Given the description of an element on the screen output the (x, y) to click on. 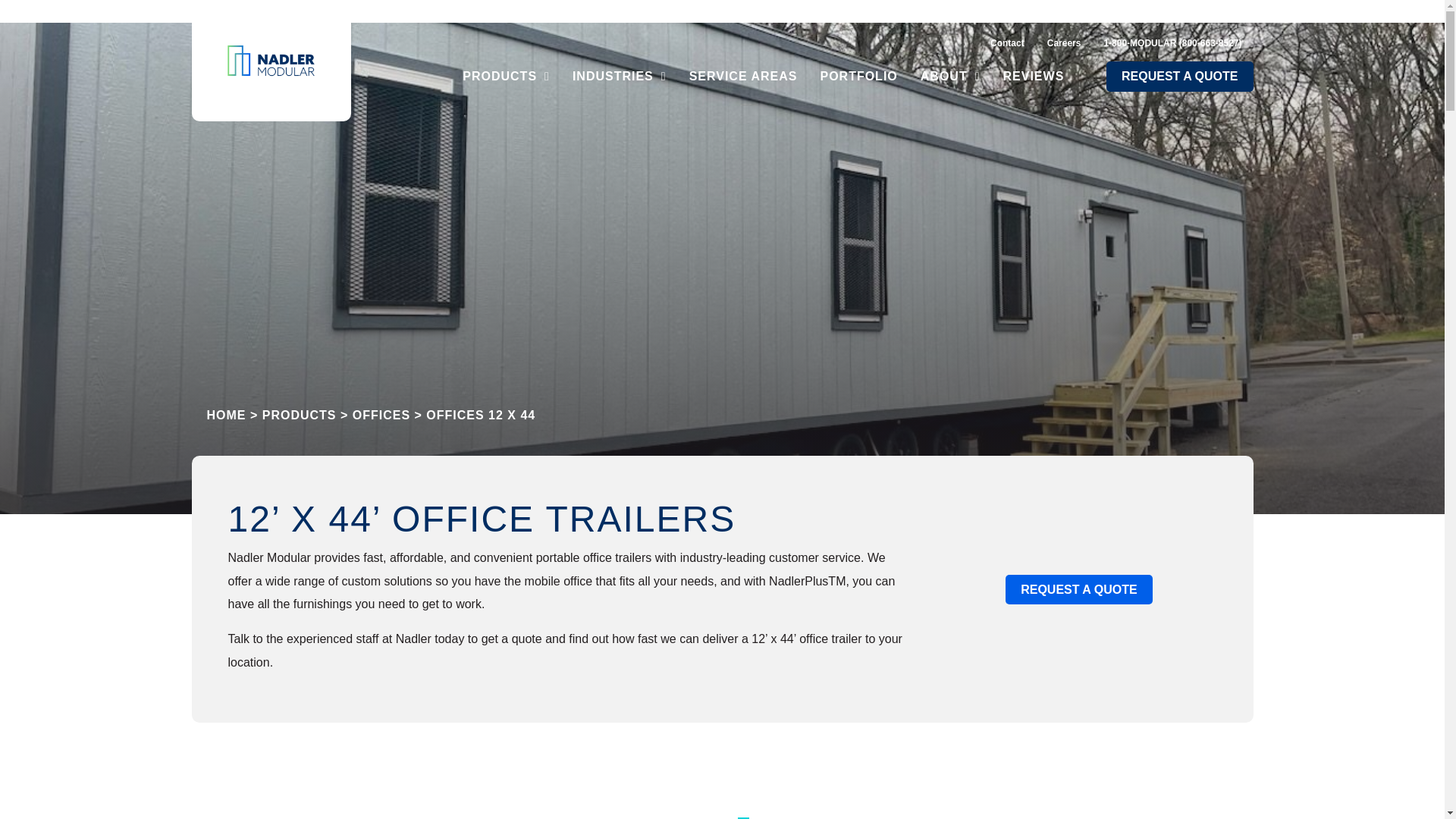
ABOUT (950, 76)
SERVICE AREAS (743, 76)
Contact (1007, 43)
PORTFOLIO (858, 76)
PRODUCTS (505, 76)
Nadler Modular Logo (270, 60)
Careers (1064, 43)
REVIEWS (1033, 76)
INDUSTRIES (619, 76)
